Given the description of an element on the screen output the (x, y) to click on. 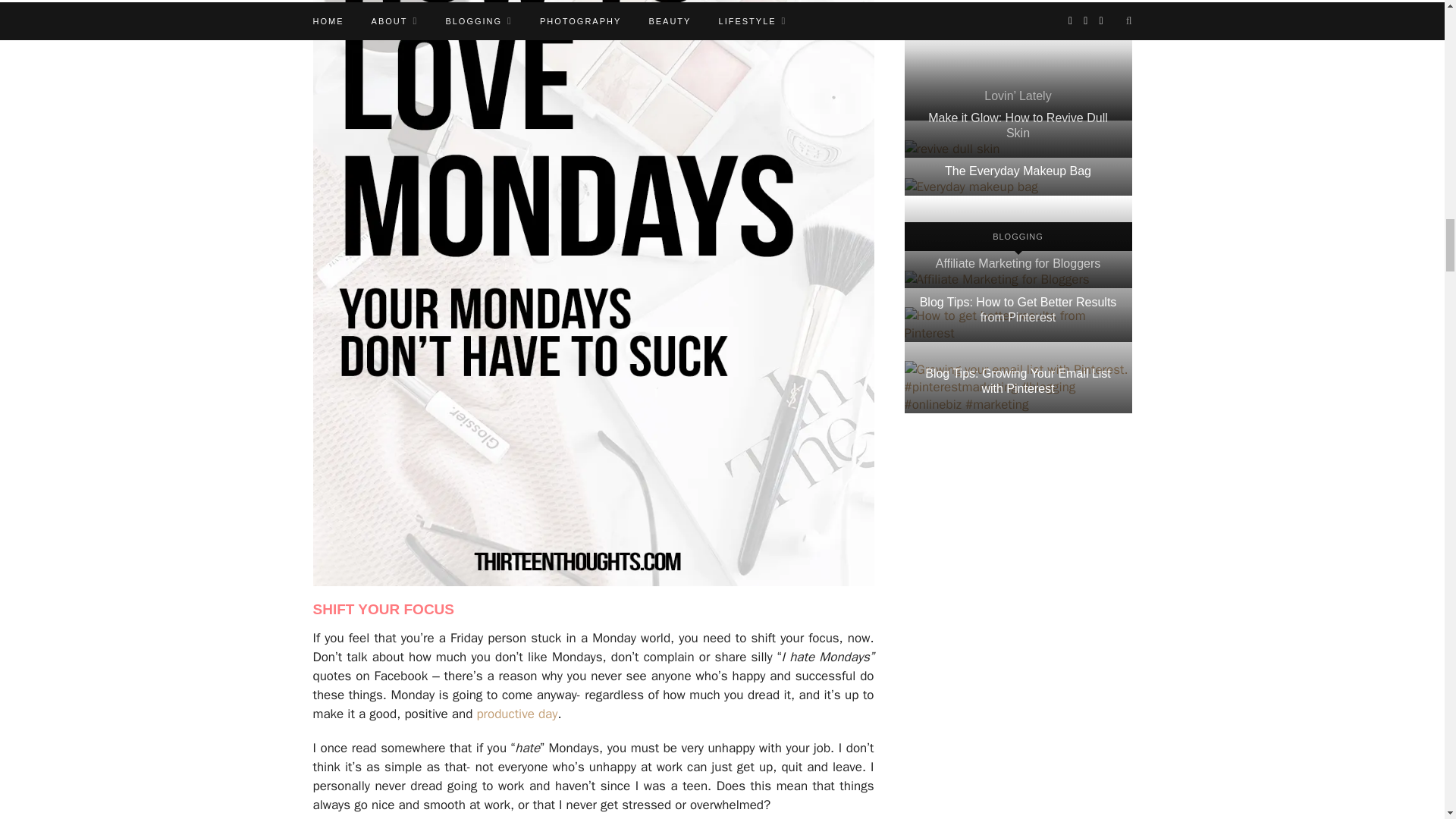
productive day (516, 713)
